Given the description of an element on the screen output the (x, y) to click on. 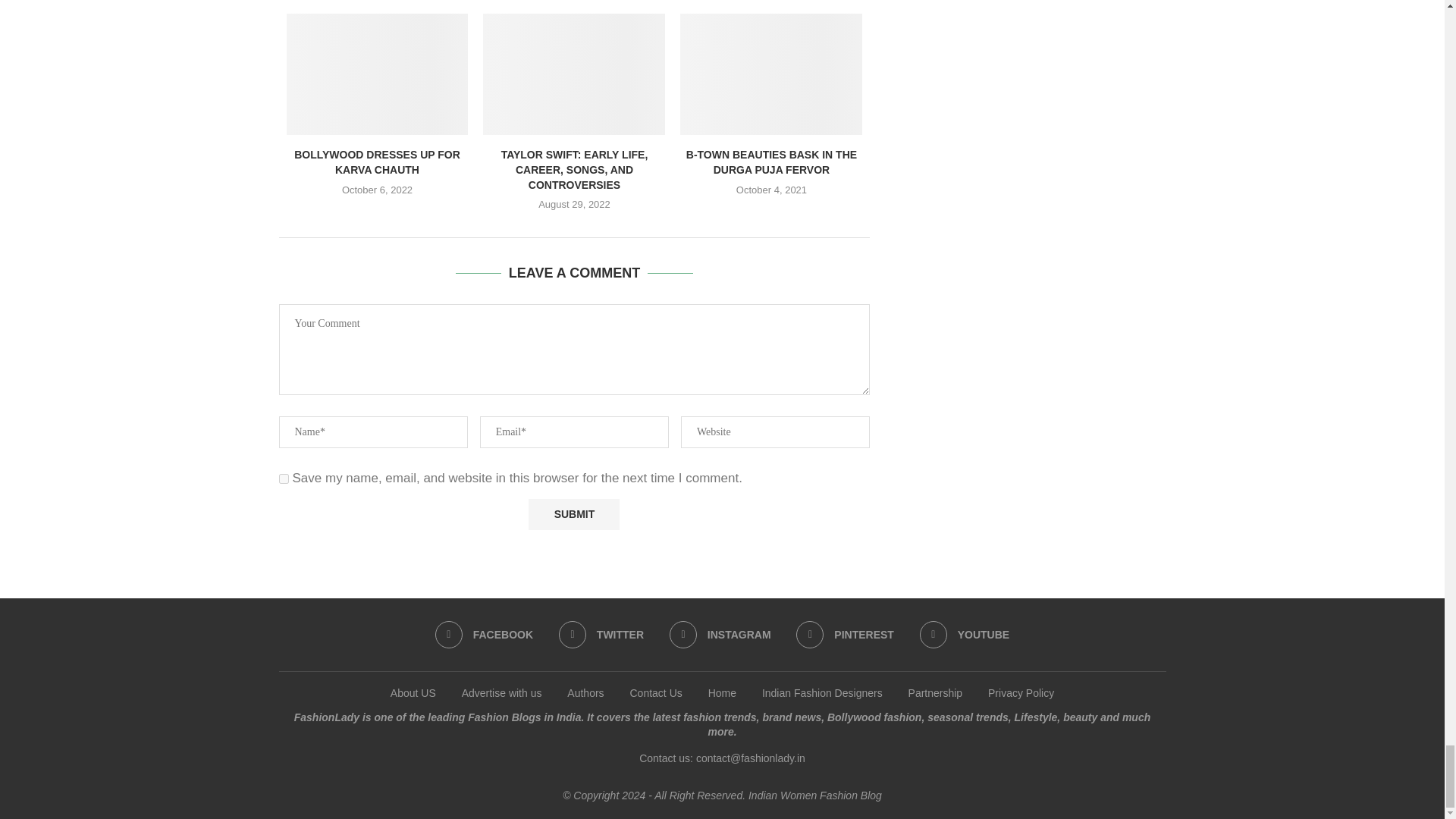
Submit (574, 513)
yes (283, 479)
Bollywood Dresses Up For Karva Chauth (377, 74)
B-Town Beauties Bask In The Durga Puja Fervor (770, 74)
Taylor Swift: Early Life, Career, Songs, And Controversies (574, 74)
